Given the description of an element on the screen output the (x, y) to click on. 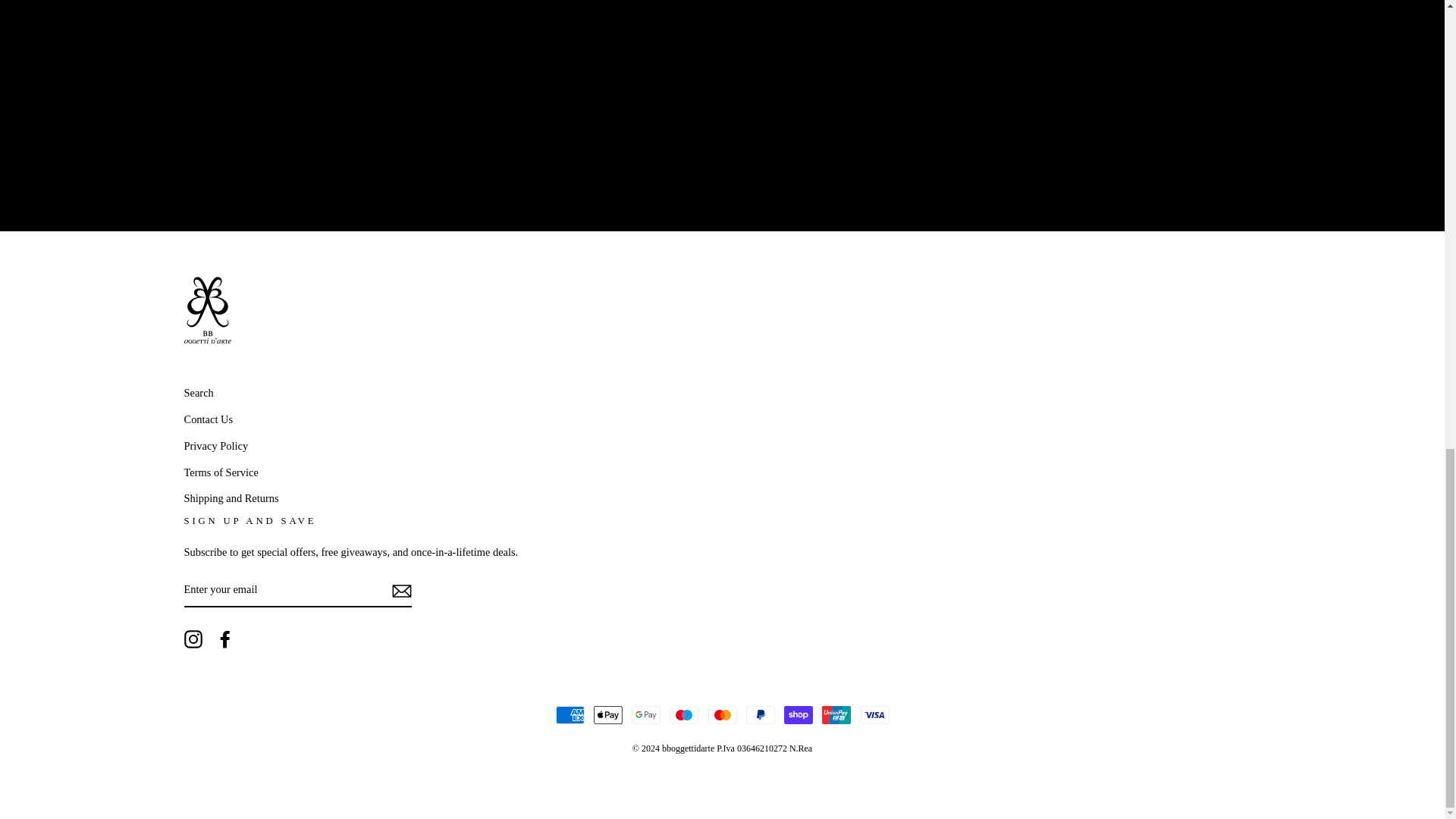
American Express (568, 714)
Mastercard (721, 714)
bboggettidarte on Facebook (224, 639)
PayPal (759, 714)
Apple Pay (608, 714)
Shop Pay (798, 714)
Visa (874, 714)
Union Pay (836, 714)
bboggettidarte on Instagram (192, 639)
Google Pay (646, 714)
Maestro (683, 714)
